Given the description of an element on the screen output the (x, y) to click on. 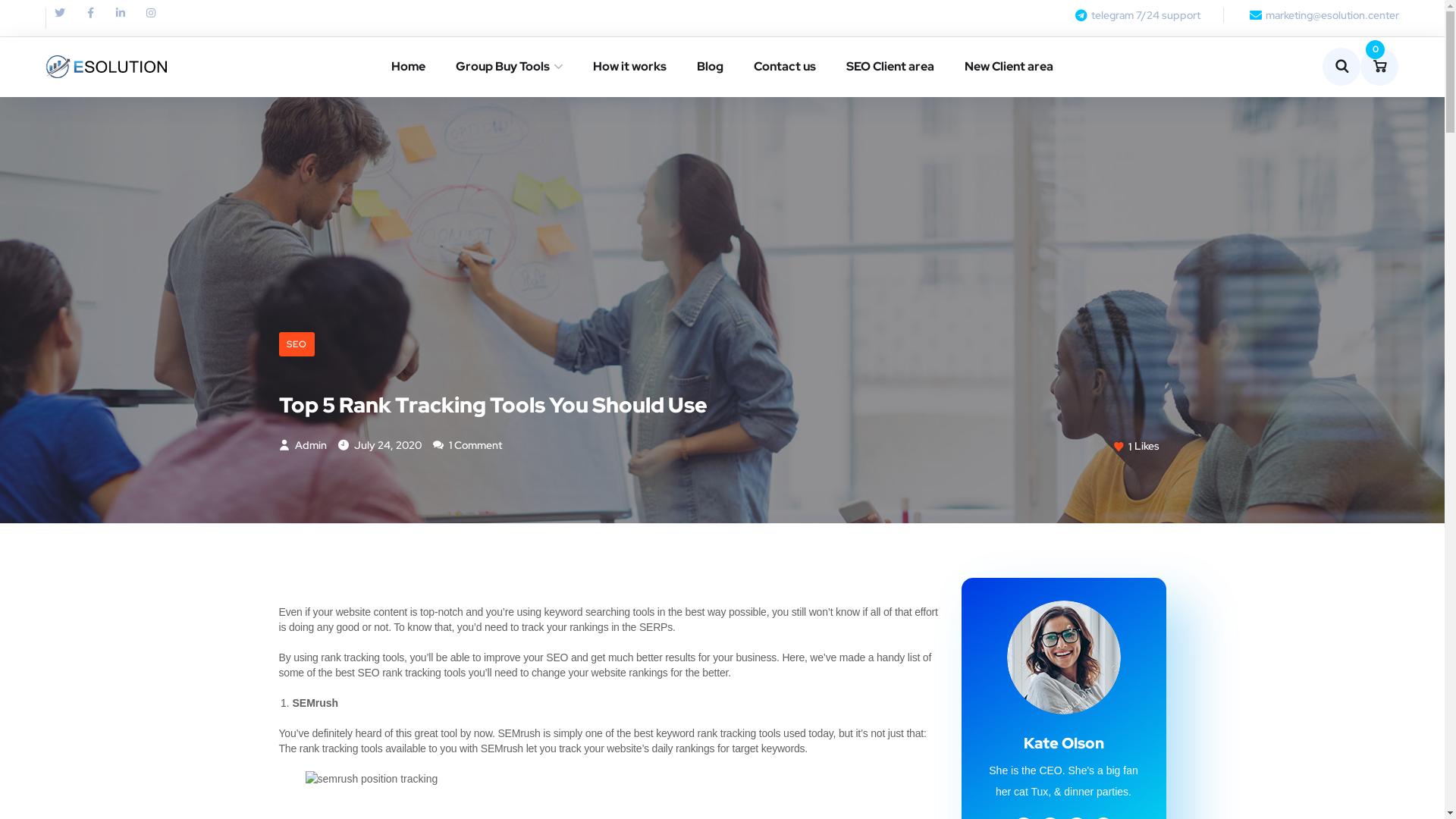
New Client area Element type: text (1008, 66)
How it works Element type: text (629, 66)
1 Comment Element type: text (466, 444)
telegram 7/24 support Element type: text (1136, 14)
SEO Client area Element type: text (890, 66)
Admin Element type: text (302, 444)
July 24, 2020 Element type: text (379, 444)
Group Buy Tools Element type: text (508, 66)
0 Element type: text (1379, 66)
SEO Element type: text (296, 344)
Contact us Element type: text (784, 66)
marketing@esolution.center Element type: text (1322, 14)
Home Element type: text (408, 66)
Blog Element type: text (709, 66)
